Given the description of an element on the screen output the (x, y) to click on. 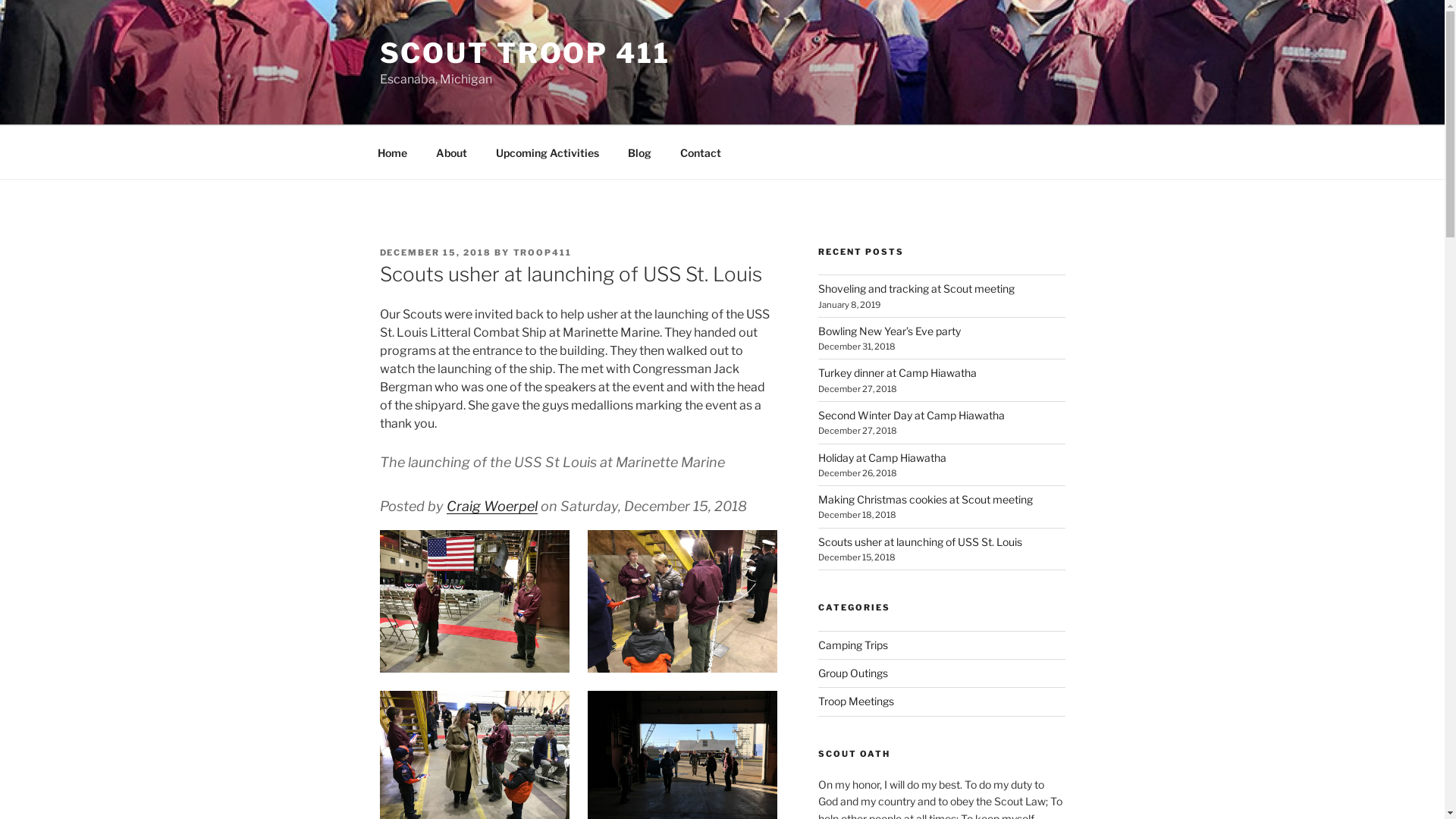
Second Winter Day at Camp Hiawatha Element type: text (911, 414)
Contact Element type: text (700, 151)
Blog Element type: text (639, 151)
Group Outings Element type: text (853, 672)
Scouts usher at launching of USS St. Louis Element type: text (920, 541)
Camping Trips Element type: text (853, 644)
Shoveling and tracking at Scout meeting Element type: text (916, 288)
Turkey dinner at Camp Hiawatha Element type: text (897, 372)
DECEMBER 15, 2018 Element type: text (435, 252)
Holiday at Camp Hiawatha Element type: text (882, 457)
About Element type: text (451, 151)
Home Element type: text (392, 151)
Making Christmas cookies at Scout meeting Element type: text (925, 498)
Troop Meetings Element type: text (856, 700)
Craig Woerpel Element type: text (490, 506)
TROOP411 Element type: text (541, 252)
Upcoming Activities Element type: text (546, 151)
SCOUT TROOP 411 Element type: text (524, 52)
